Given the description of an element on the screen output the (x, y) to click on. 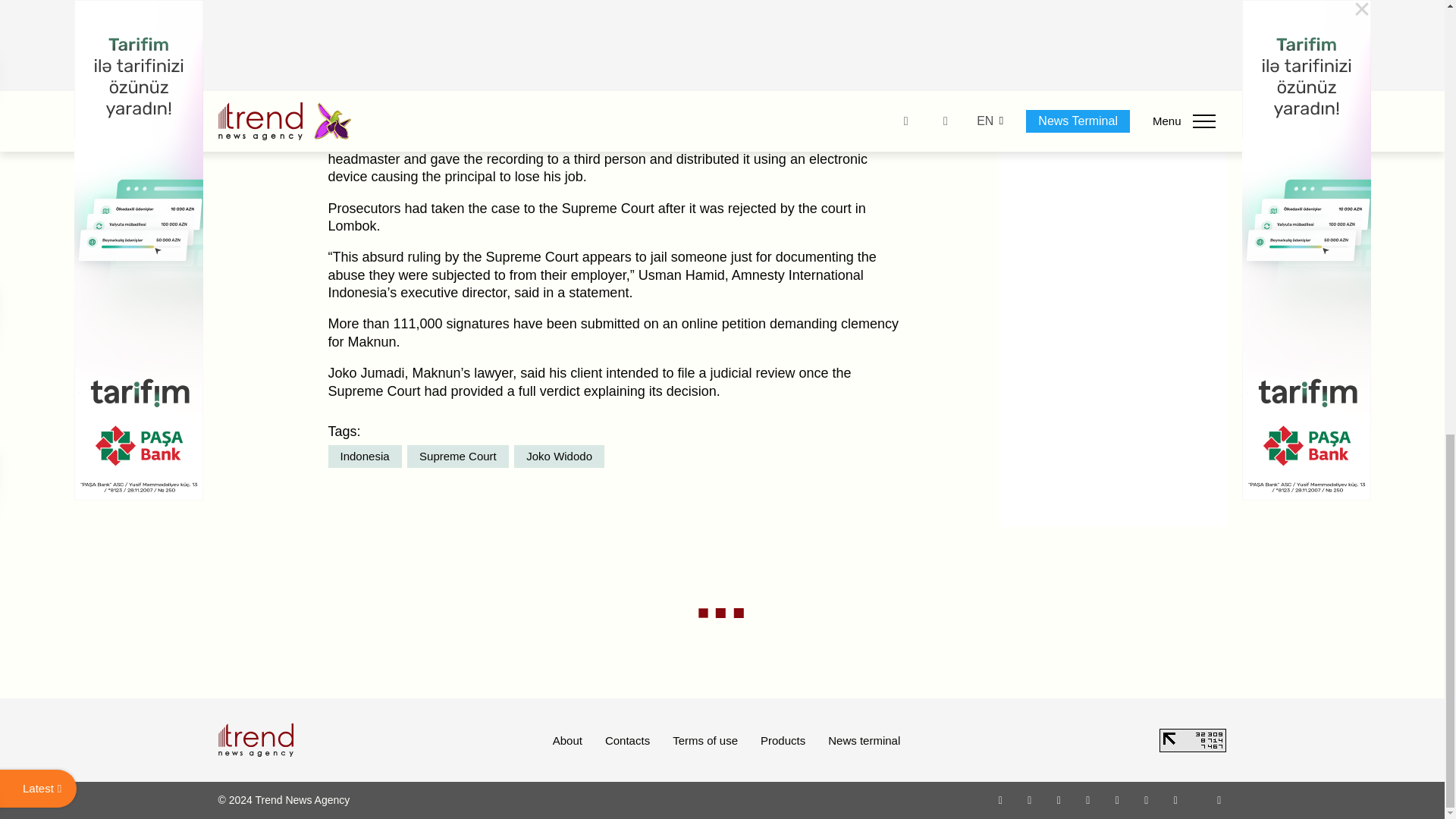
Youtube (1088, 799)
Twitter (1059, 799)
Facebook (1029, 799)
Whatsapp (1000, 799)
Android App (1176, 799)
Telegram (1117, 799)
LinkedIn (1146, 799)
RSS Feed (1219, 799)
